Given the description of an element on the screen output the (x, y) to click on. 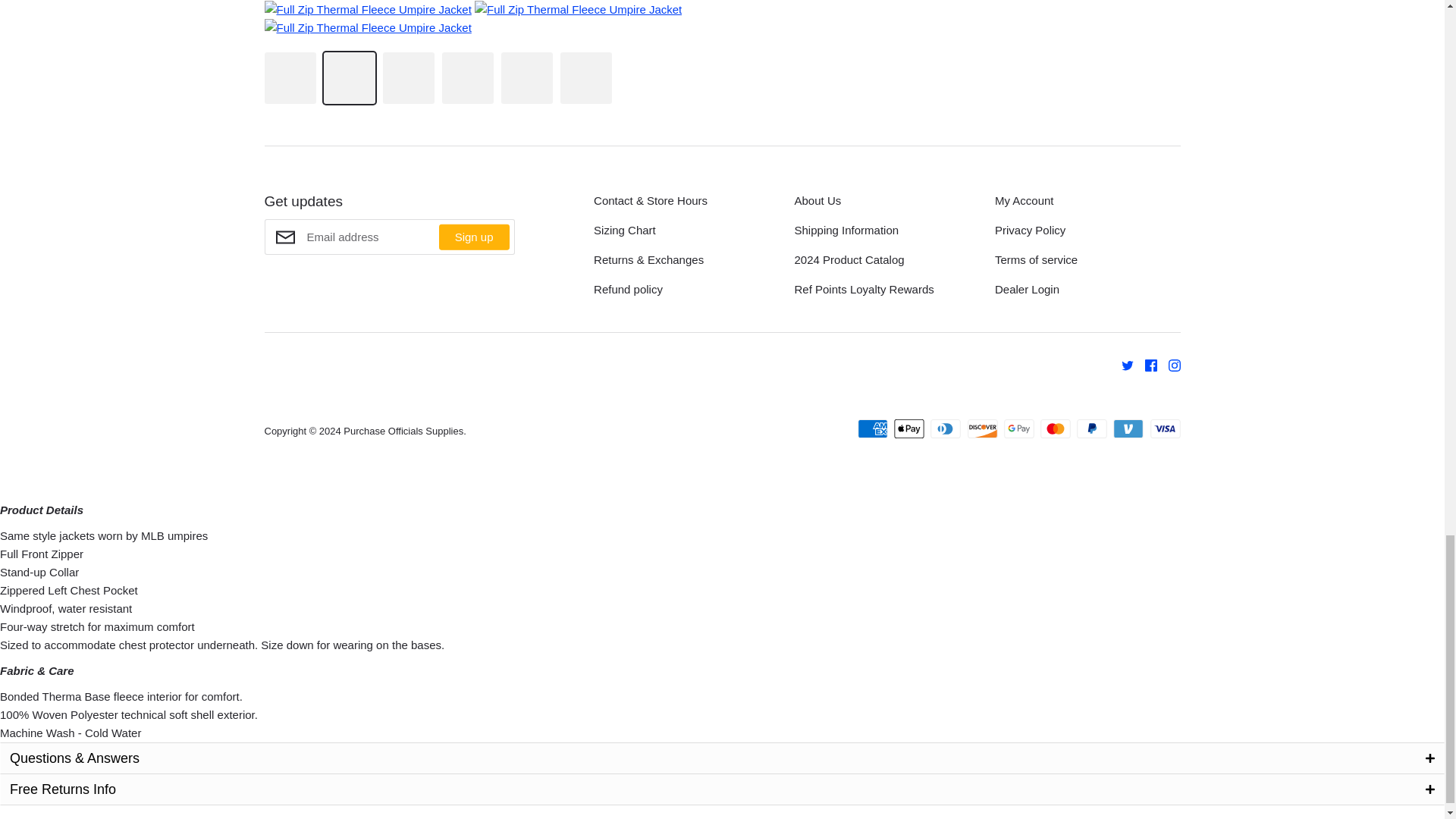
Mastercard (1055, 428)
Venmo (1127, 428)
Visa (1164, 428)
PayPal (1091, 428)
Google Pay (1018, 428)
Diners Club (945, 428)
Apple Pay (908, 428)
Twitter (1121, 364)
American Express (872, 428)
Instagram (1168, 364)
Discover (982, 428)
Facebook (1144, 364)
